Given the description of an element on the screen output the (x, y) to click on. 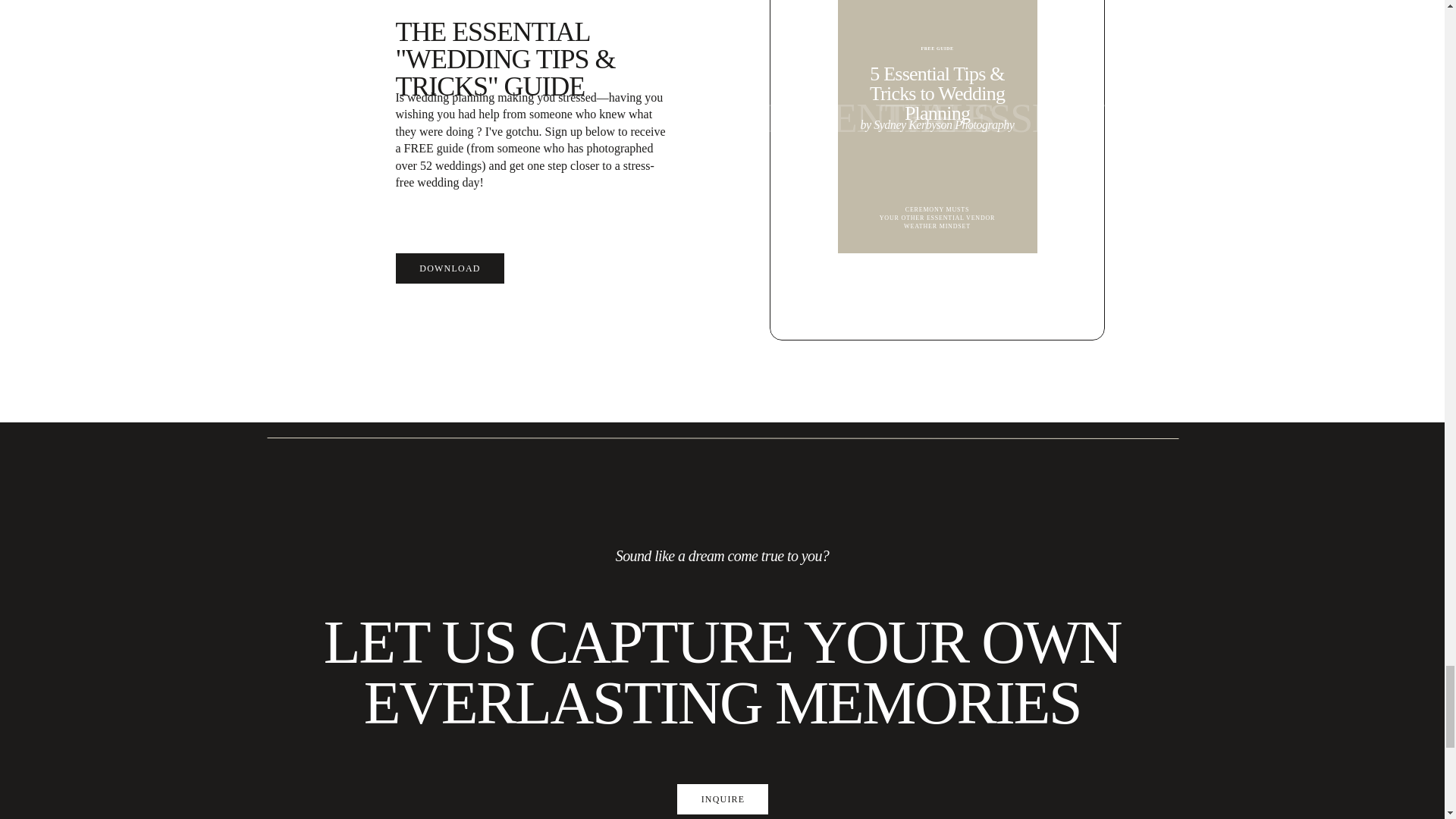
INQUIRE (723, 799)
DOWNLOAD (449, 268)
